Given the description of an element on the screen output the (x, y) to click on. 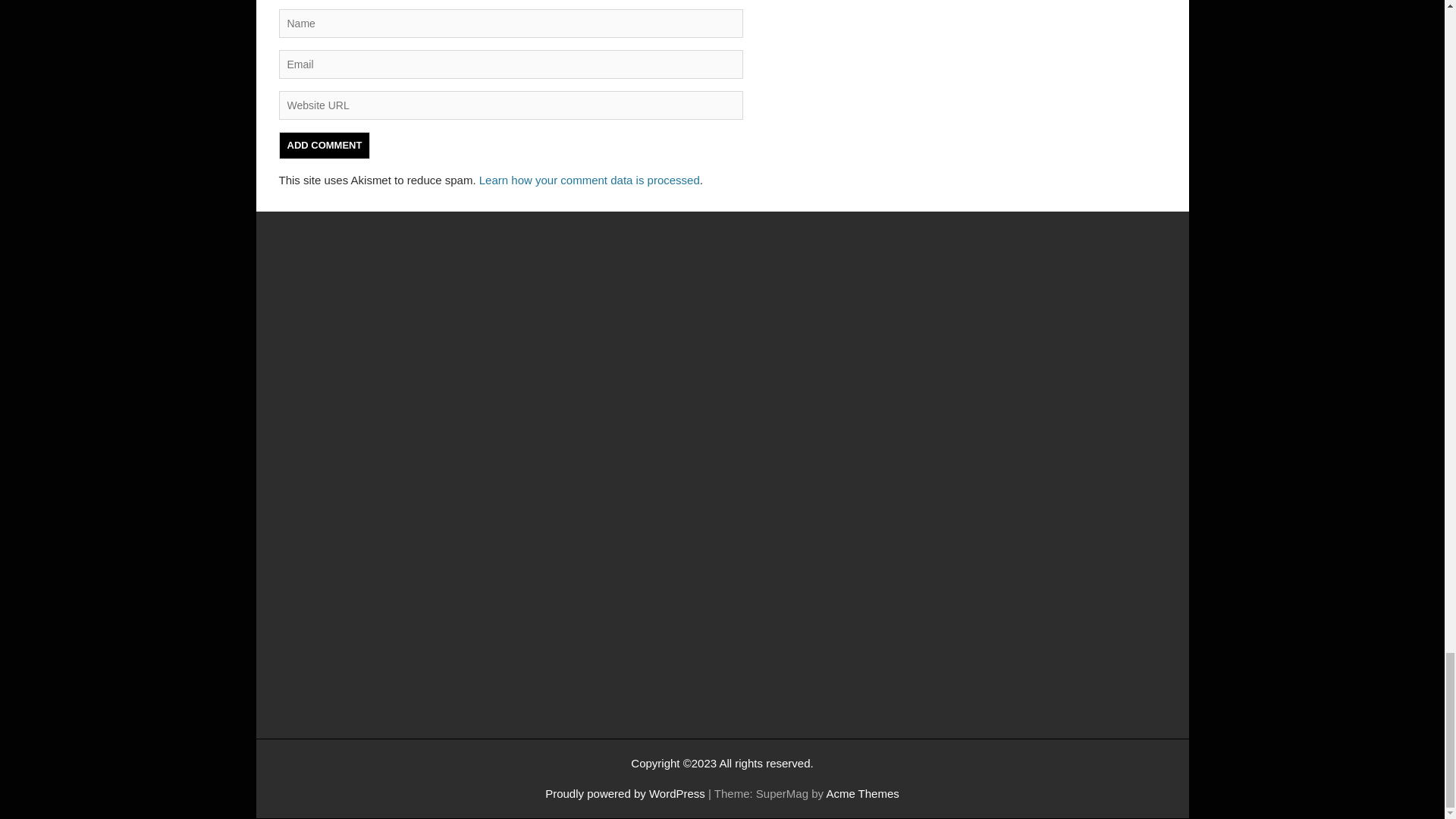
Add Comment (325, 144)
